Given the description of an element on the screen output the (x, y) to click on. 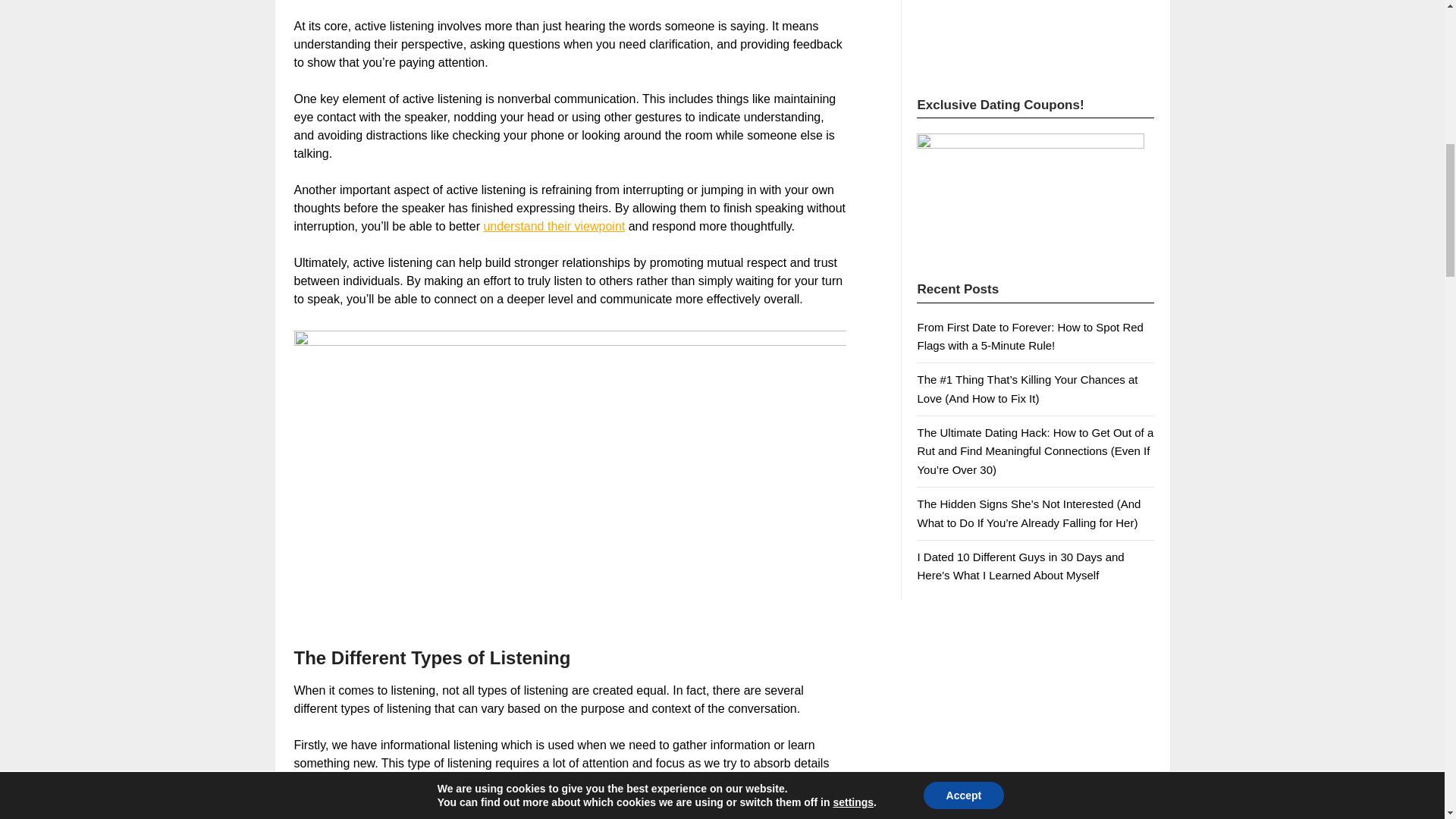
understand their viewpoint (553, 226)
